Given the description of an element on the screen output the (x, y) to click on. 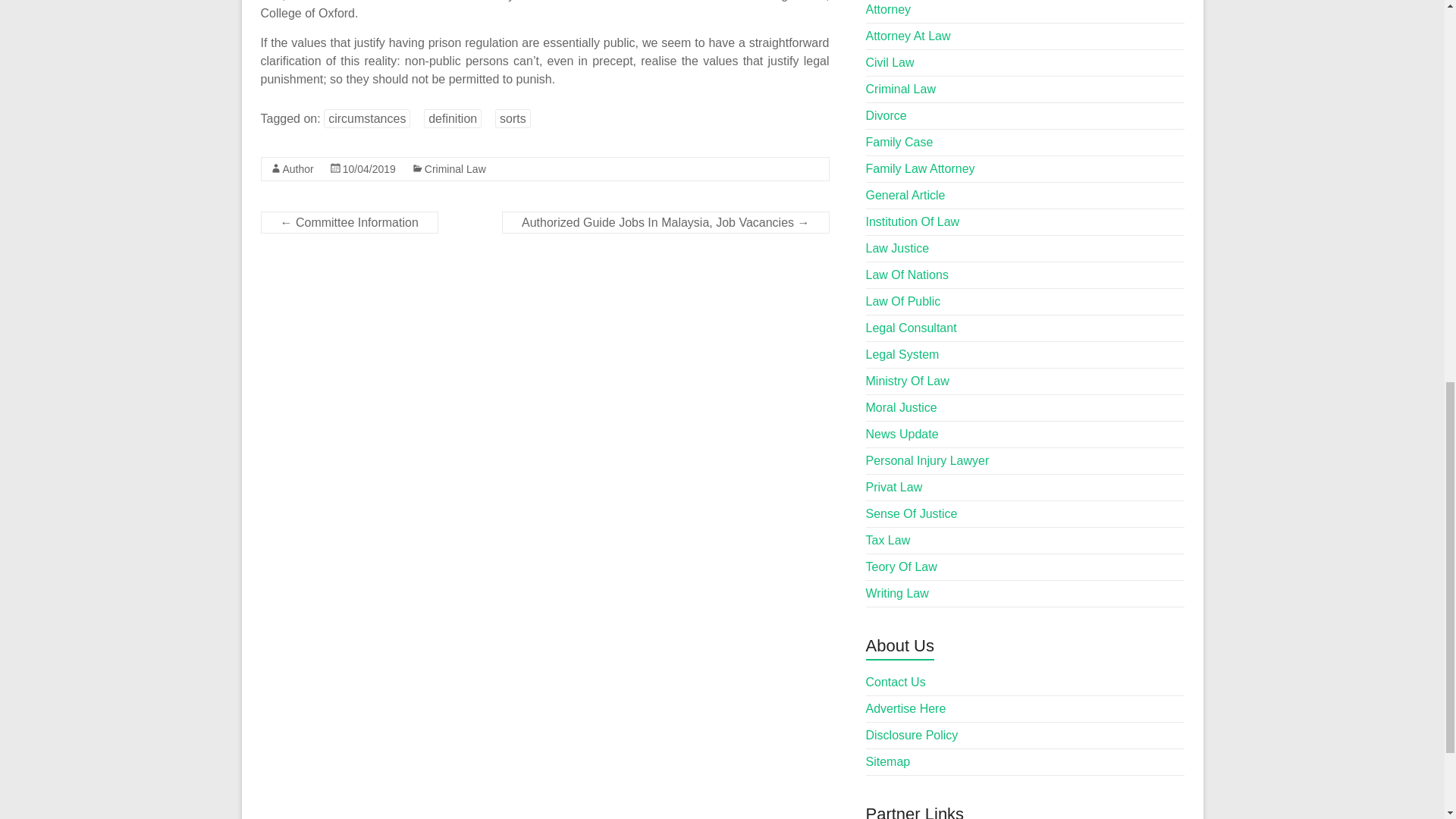
Author (297, 168)
definition (452, 117)
circumstances (366, 117)
Criminal Law (455, 168)
08:38 (369, 168)
sorts (513, 117)
